Given the description of an element on the screen output the (x, y) to click on. 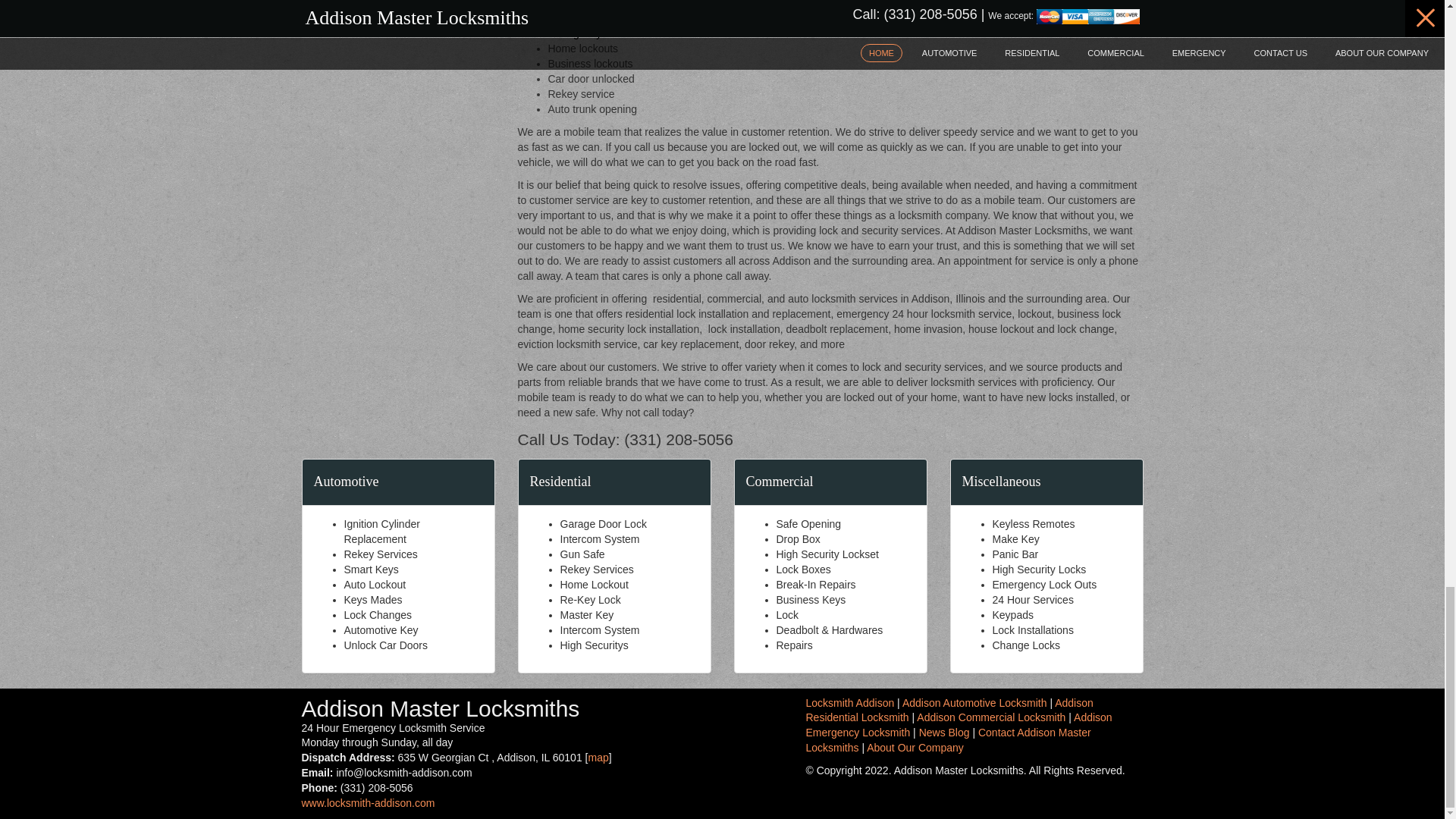
Locksmith Addison (849, 702)
map (598, 757)
Addison Automotive Locksmith (974, 702)
Addison Residential Locksmith (949, 709)
Addison Commercial Locksmith (991, 717)
Emergency lockout service (610, 33)
Addison Emergency Locksmith (958, 724)
www.locksmith-addison.com (368, 802)
